Given the description of an element on the screen output the (x, y) to click on. 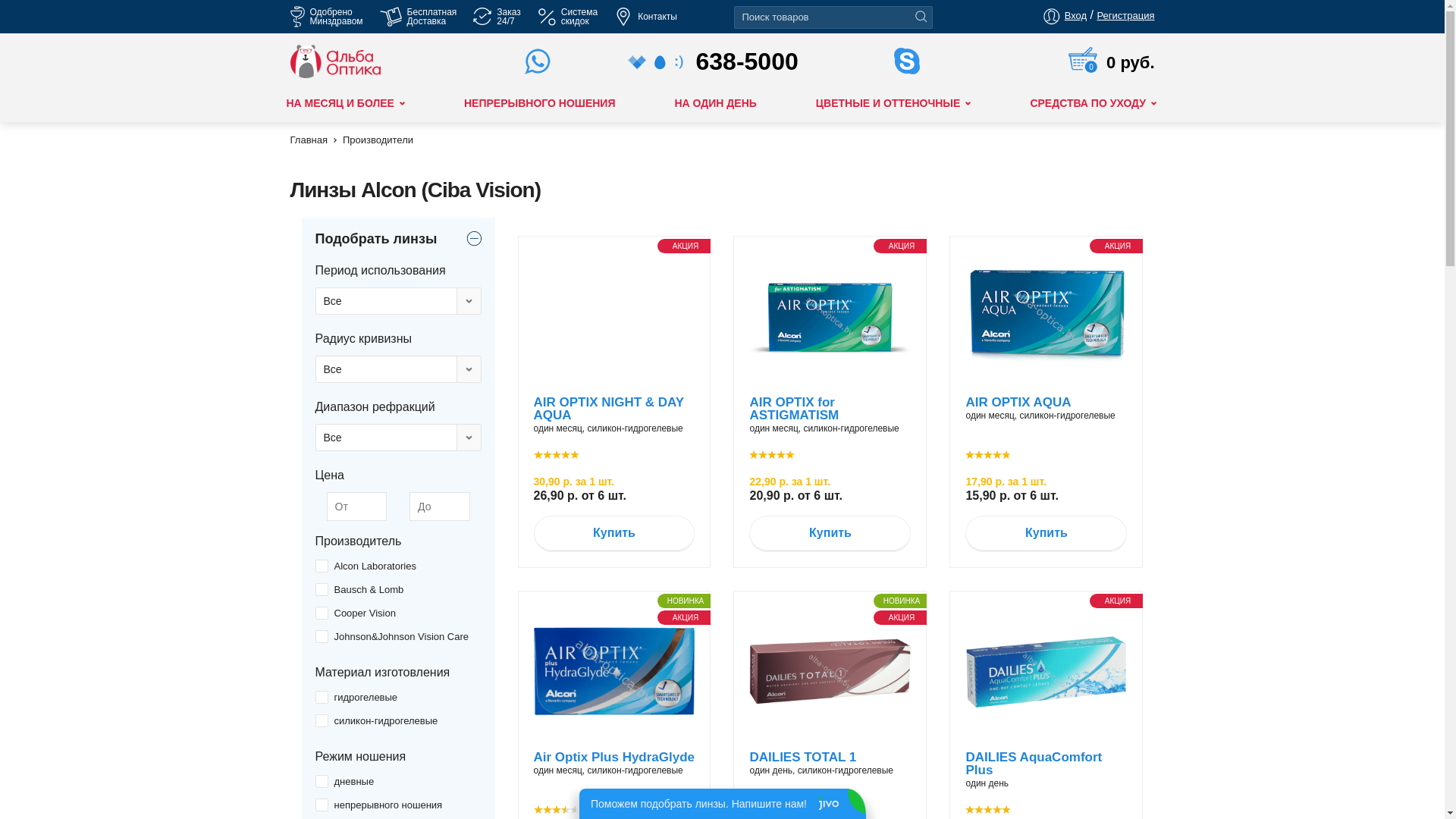
Y Element type: text (320, 566)
Y Element type: text (4, 4)
Y Element type: text (320, 613)
Y Element type: text (320, 636)
Y Element type: text (320, 781)
Y Element type: text (320, 720)
Y Element type: text (320, 589)
Y Element type: text (320, 697)
638-5000 Element type: text (722, 61)
Y Element type: text (320, 804)
